Given the description of an element on the screen output the (x, y) to click on. 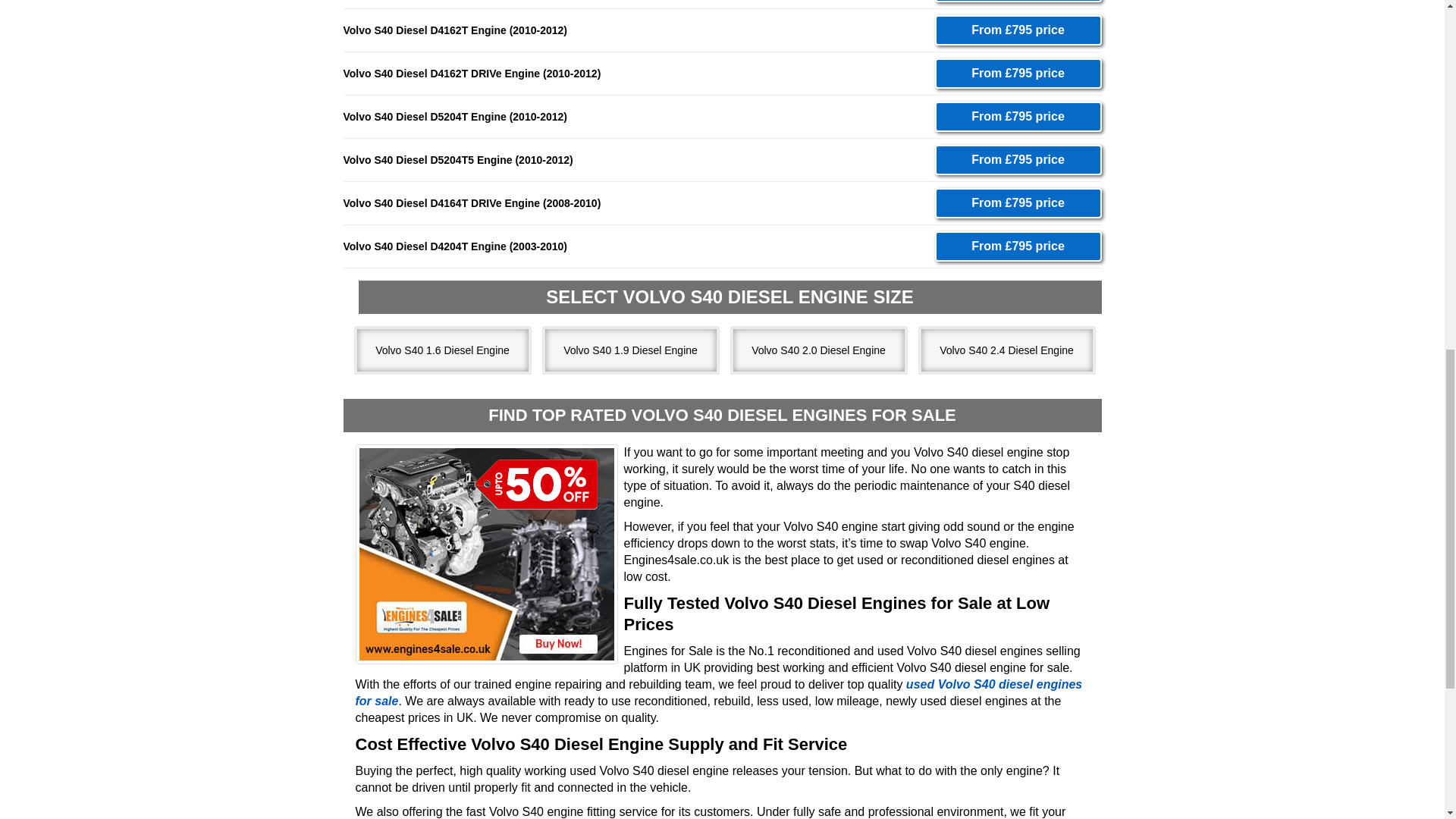
used Volvo S40 diesel engines for sale (718, 692)
Volvo S40 1.9 Diesel Engine (625, 349)
Volvo S40 2.4 Diesel Engine (1000, 349)
Volvo S40 1.6 Diesel Engine (436, 349)
Volvo S40 2.0 Diesel Engine (813, 349)
